Given the description of an element on the screen output the (x, y) to click on. 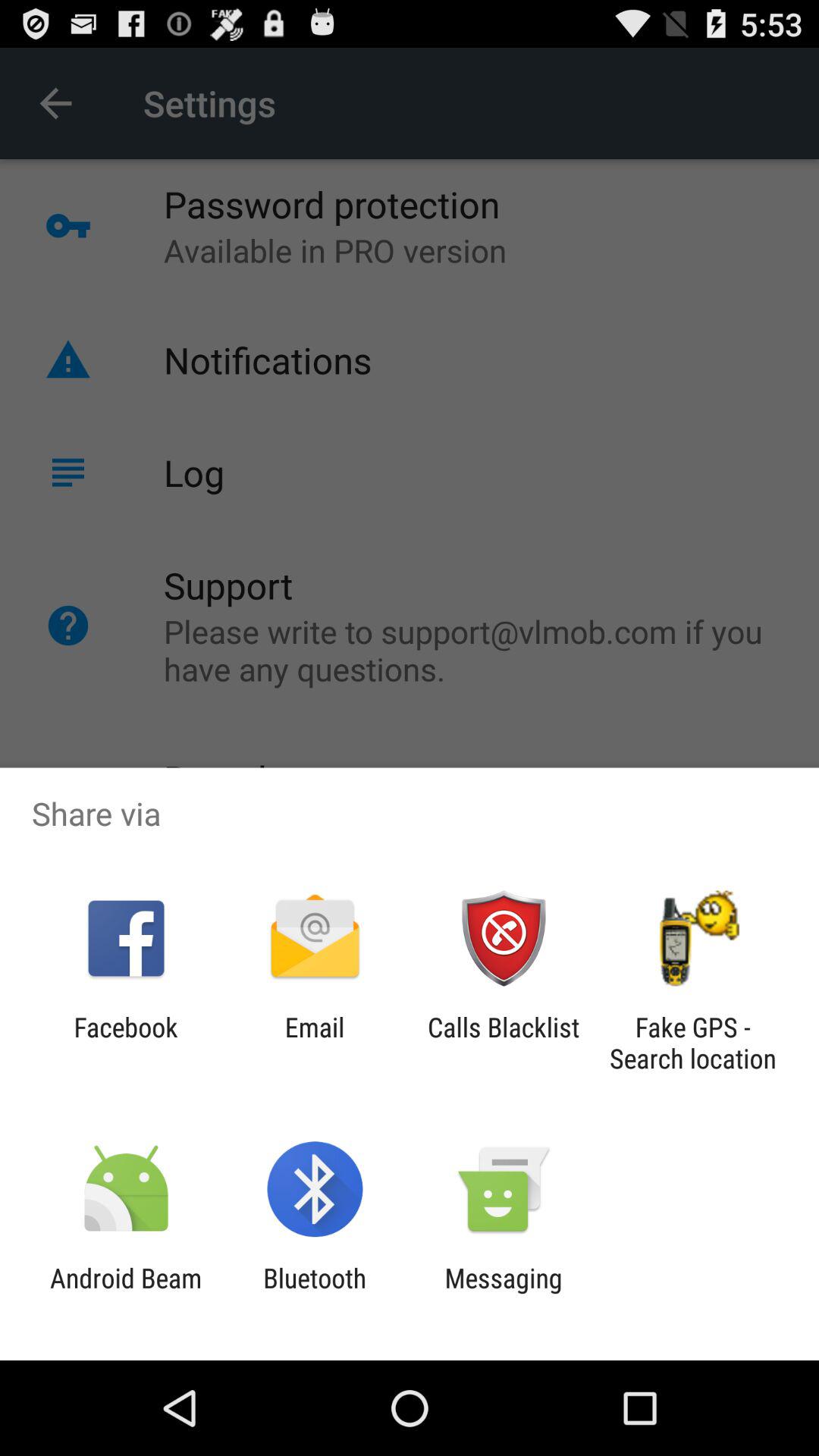
choose app to the right of the calls blacklist app (692, 1042)
